Given the description of an element on the screen output the (x, y) to click on. 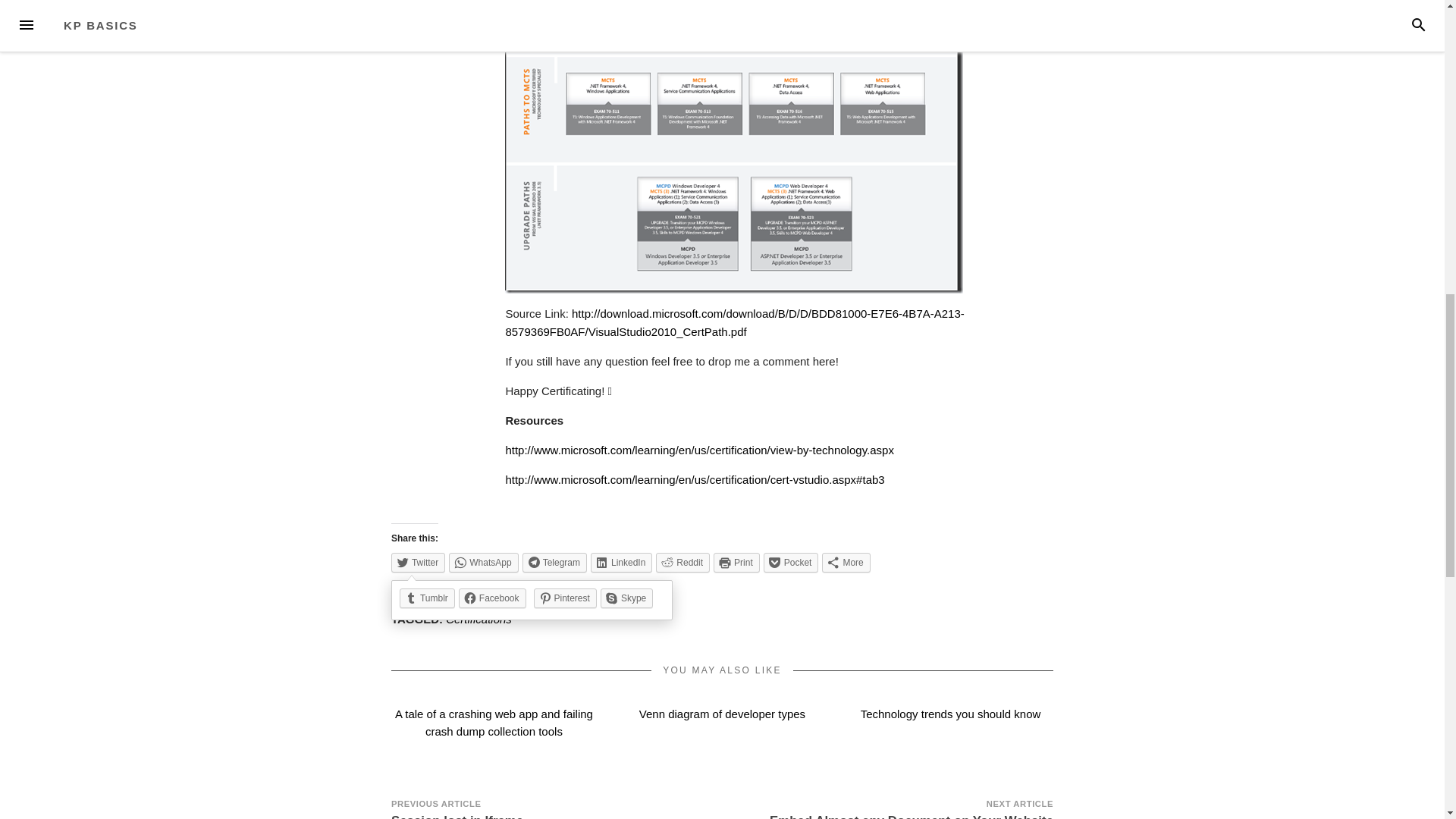
Click to share on Twitter (418, 562)
Click to share on LinkedIn (621, 562)
Click to share on Reddit (683, 562)
WhatsApp (483, 562)
Click to share on Telegram (554, 562)
Click to share on Pocket (790, 562)
Reddit (683, 562)
Click to share on WhatsApp (483, 562)
LinkedIn (621, 562)
Twitter (418, 562)
